Given the description of an element on the screen output the (x, y) to click on. 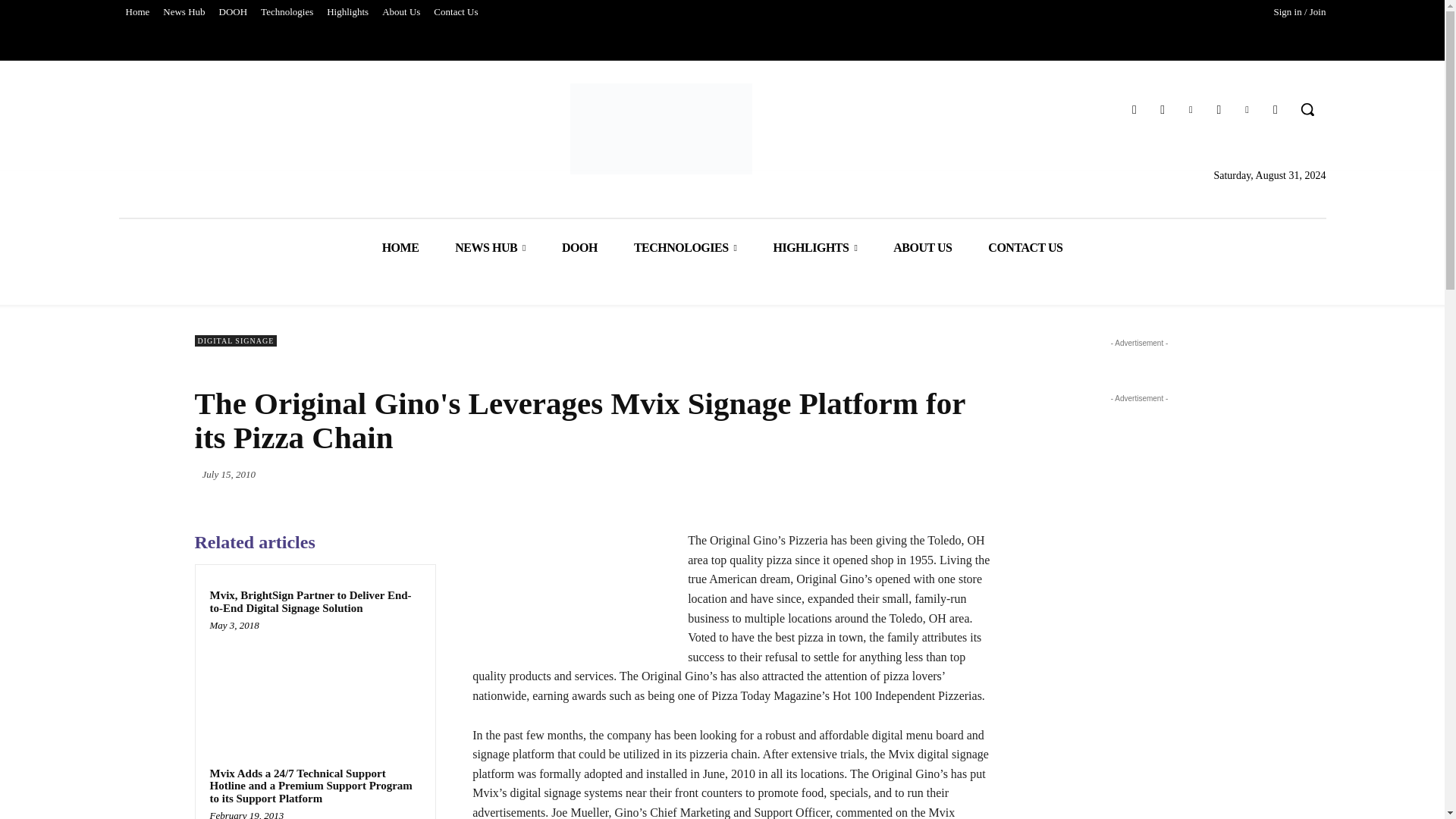
Highlights (347, 12)
Pinterest (1190, 109)
DOOH (233, 12)
Facebook (1163, 109)
Google News (1275, 109)
News Hub (183, 12)
Linkedin (1246, 109)
Contact Us (455, 12)
Instagram (1218, 109)
About Us (400, 12)
